Given the description of an element on the screen output the (x, y) to click on. 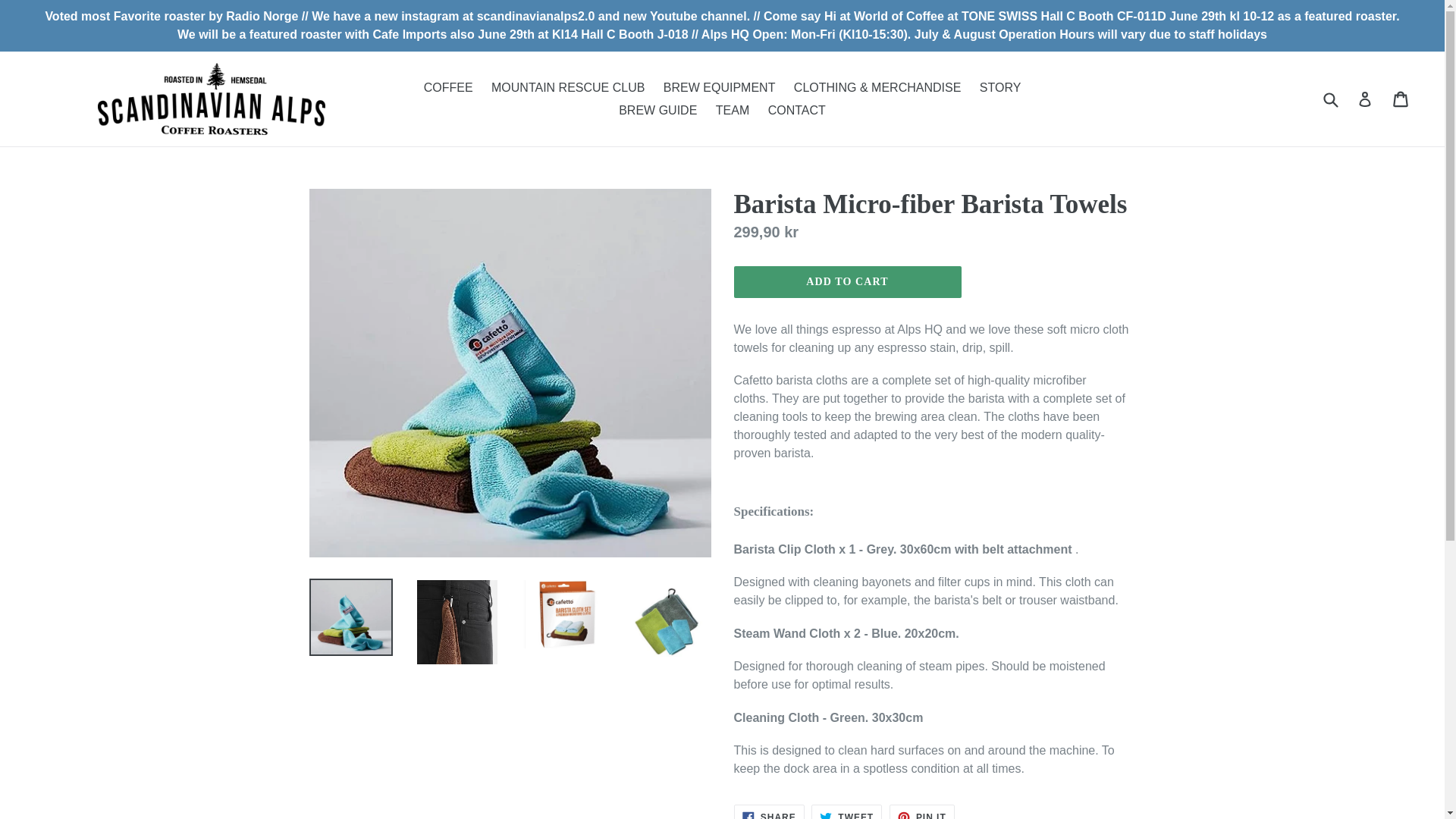
STORY (1000, 87)
BREW GUIDE (657, 109)
TEAM (732, 109)
BREW EQUIPMENT (846, 811)
Tweet on Twitter (719, 87)
ADD TO CART (846, 811)
Pin on Pinterest (846, 282)
COFFEE (922, 811)
